Given the description of an element on the screen output the (x, y) to click on. 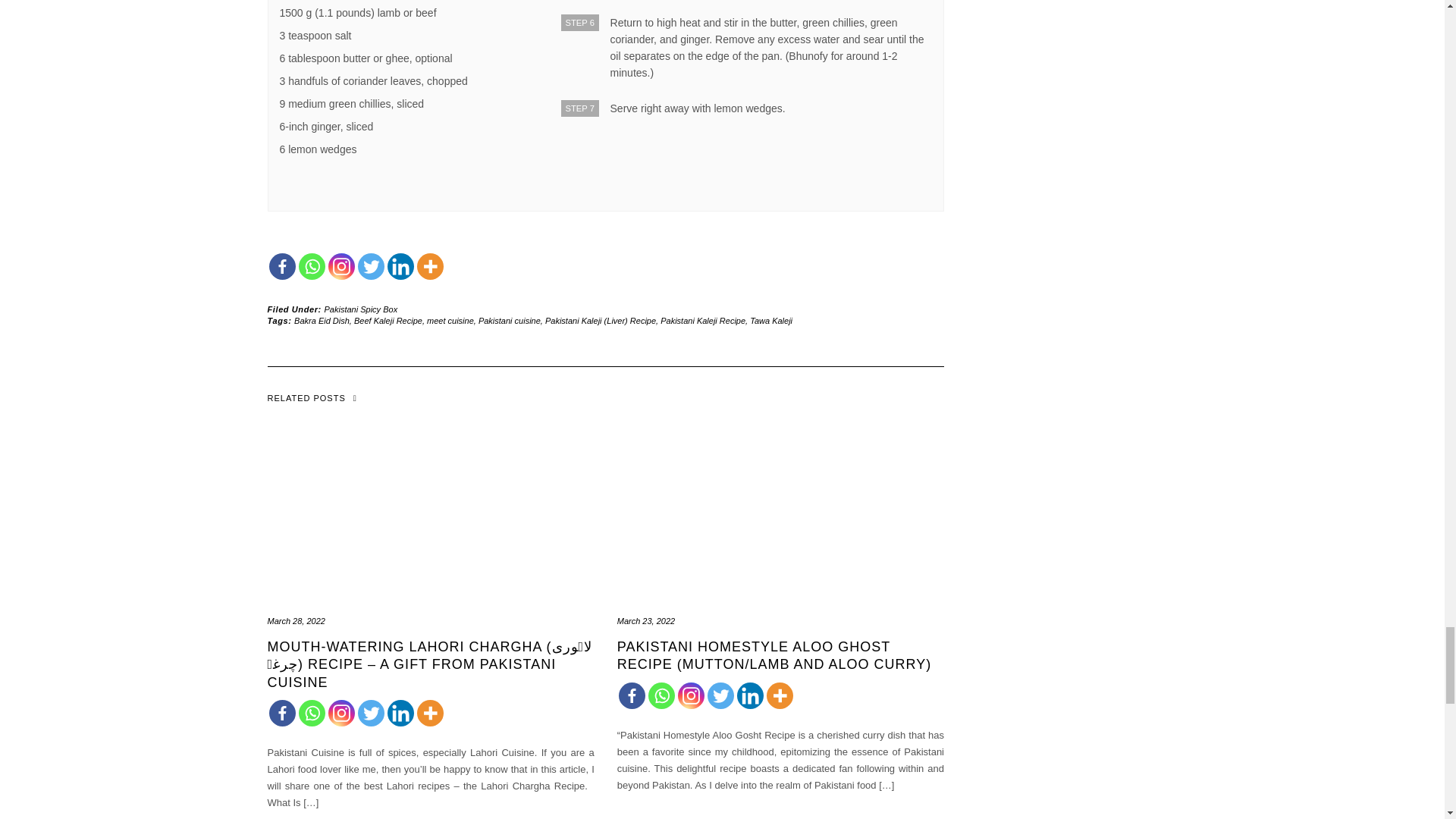
Beef Kaleji Recipe (387, 320)
meet cuisine (450, 320)
March 28, 2022 (295, 620)
Linkedin (400, 266)
Whatsapp (311, 266)
Facebook (281, 713)
Twitter (371, 266)
Whatsapp (311, 713)
Tawa Kaleji (770, 320)
More (430, 266)
